Given the description of an element on the screen output the (x, y) to click on. 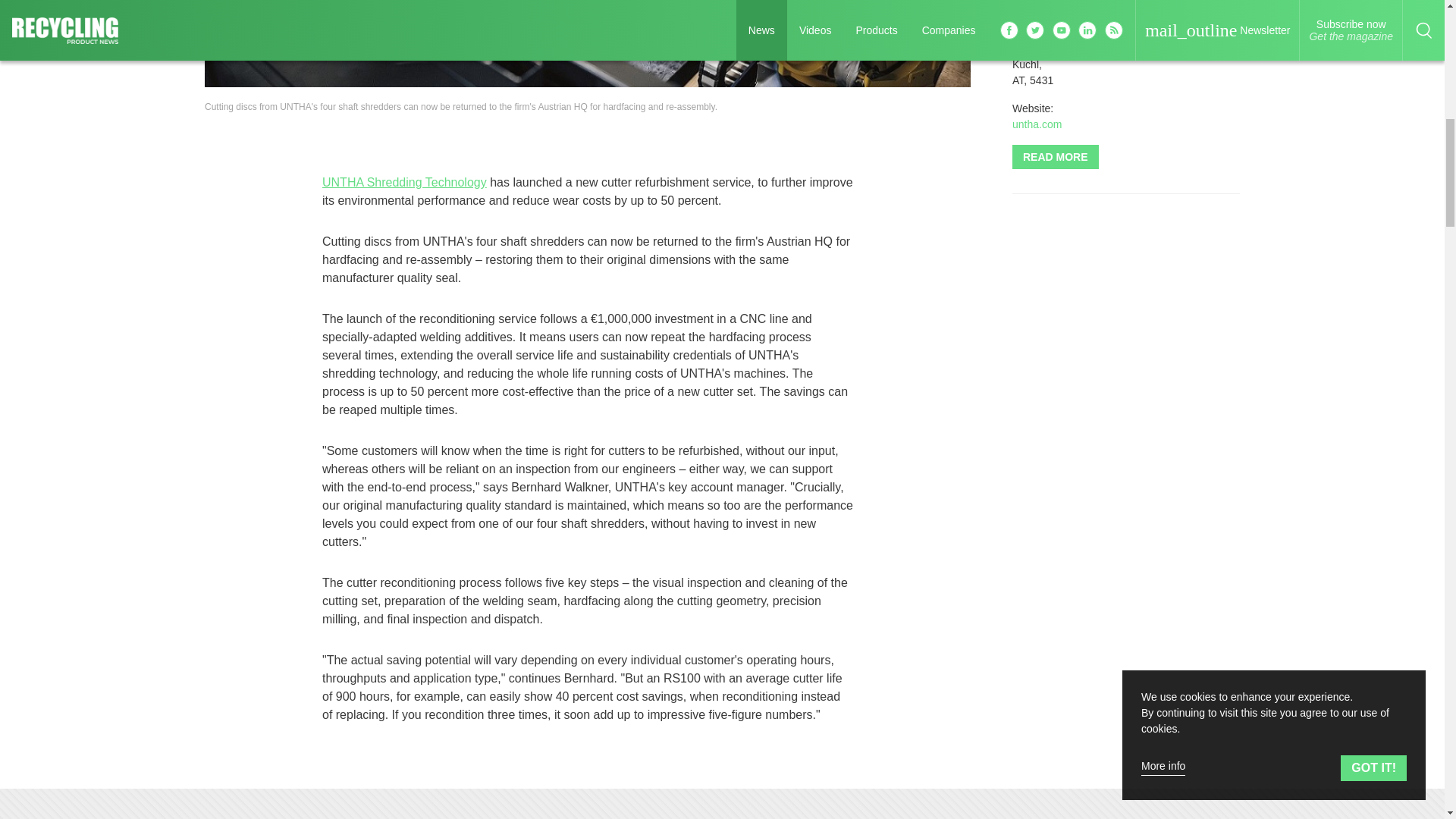
UNTHA SHREDDING TECHNOLOGY (1058, 13)
Cutter blades in the middle of being refurbished (588, 43)
UNTHA Shredding Technology (1194, 11)
READ MORE (1055, 156)
untha.com (1036, 123)
UNTHA Shredding Technology (403, 182)
